Given the description of an element on the screen output the (x, y) to click on. 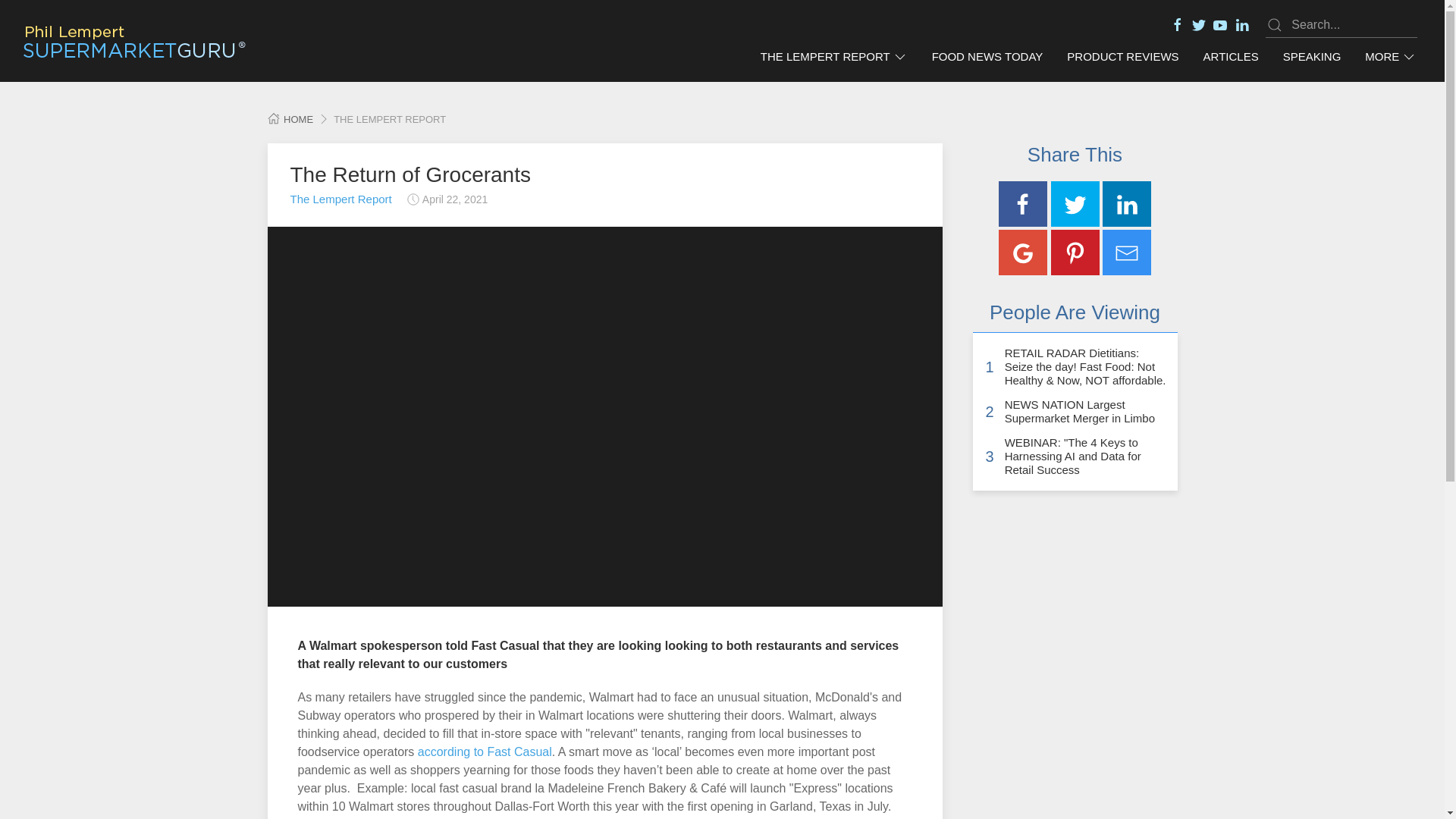
PRODUCT REVIEWS (1122, 56)
SPEAKING (1312, 56)
THE LEMPERT REPORT (834, 56)
ARTICLES (1231, 56)
HOME (289, 119)
MORE (1390, 56)
FOOD NEWS TODAY (987, 56)
